Given the description of an element on the screen output the (x, y) to click on. 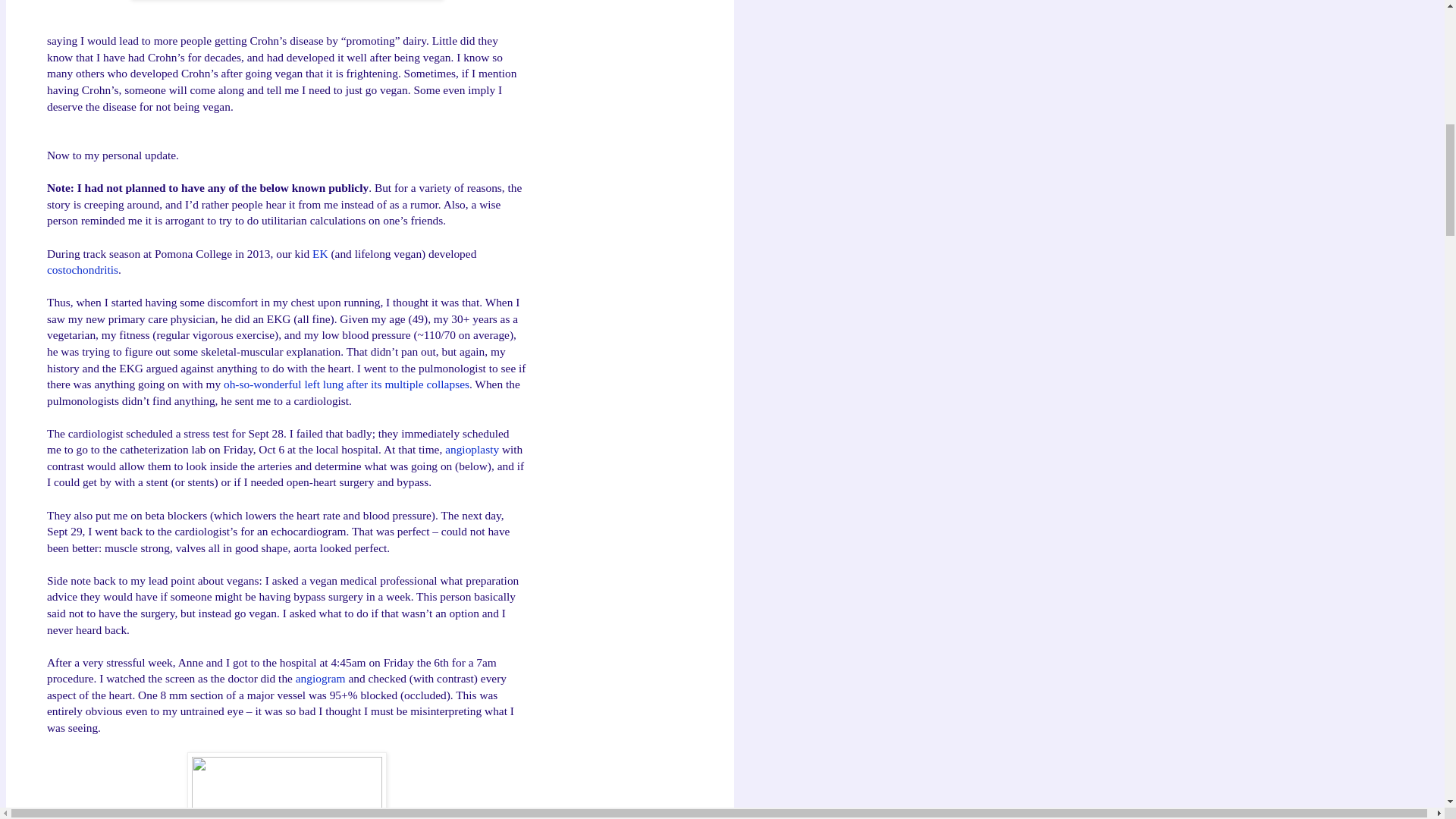
oh-so-wonderful left lung after its multiple collapses (346, 383)
costochondritis (81, 269)
angiogram (320, 677)
angioplasty (472, 449)
EK (321, 253)
